Given the description of an element on the screen output the (x, y) to click on. 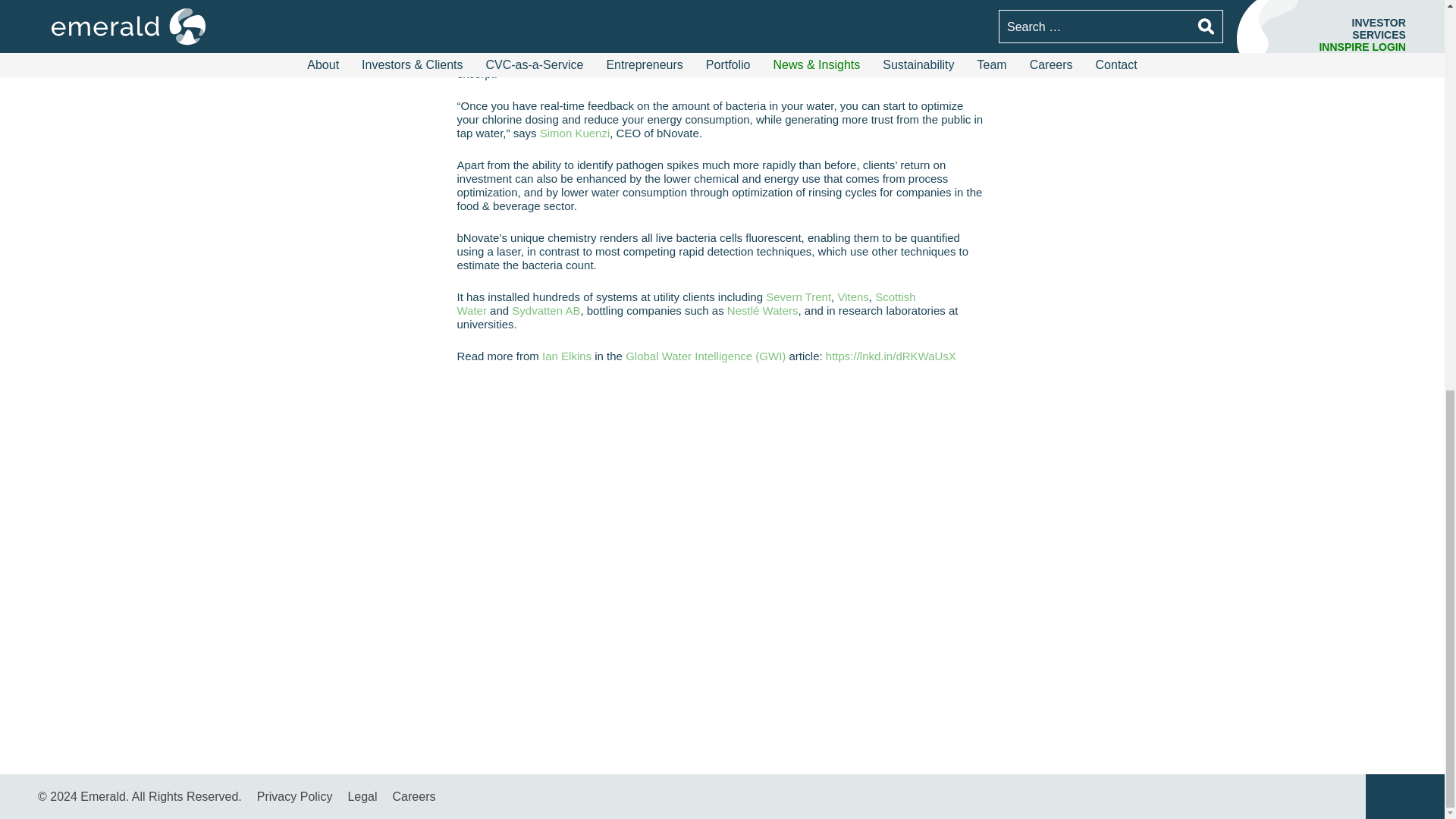
Helge Daebel (491, 14)
Severn Trent (798, 296)
bNovate Technologies SA (734, 14)
Simon Kuenzi (575, 132)
